Given the description of an element on the screen output the (x, y) to click on. 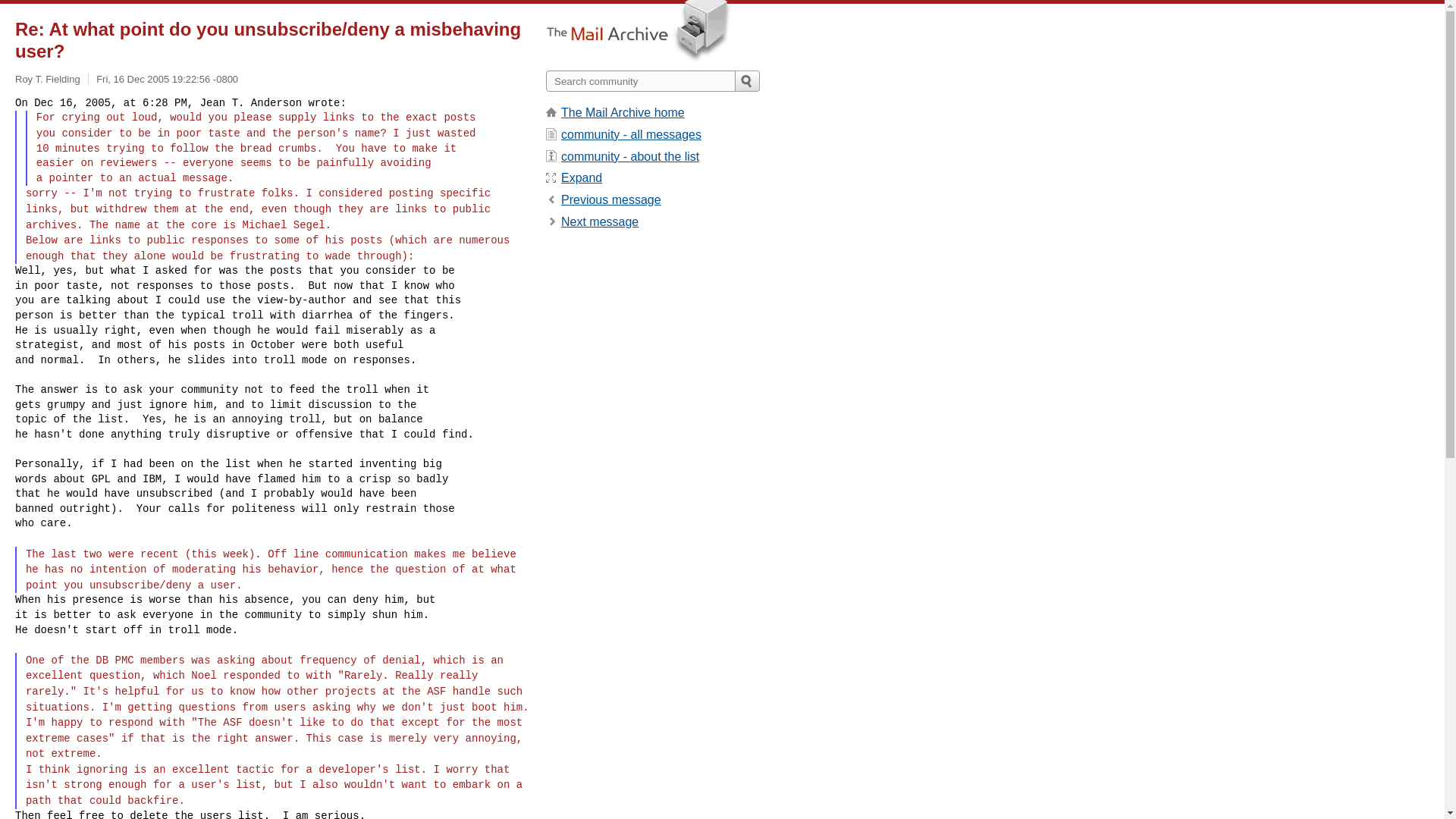
e (581, 177)
The Mail Archive home (622, 112)
Expand (581, 177)
p (610, 199)
Fri, 16 Dec 2005 19:22:56 -0800 (167, 79)
community - about the list (629, 155)
Next message (599, 221)
n (599, 221)
community - all messages (630, 133)
Roy T. Fielding (47, 79)
